Given the description of an element on the screen output the (x, y) to click on. 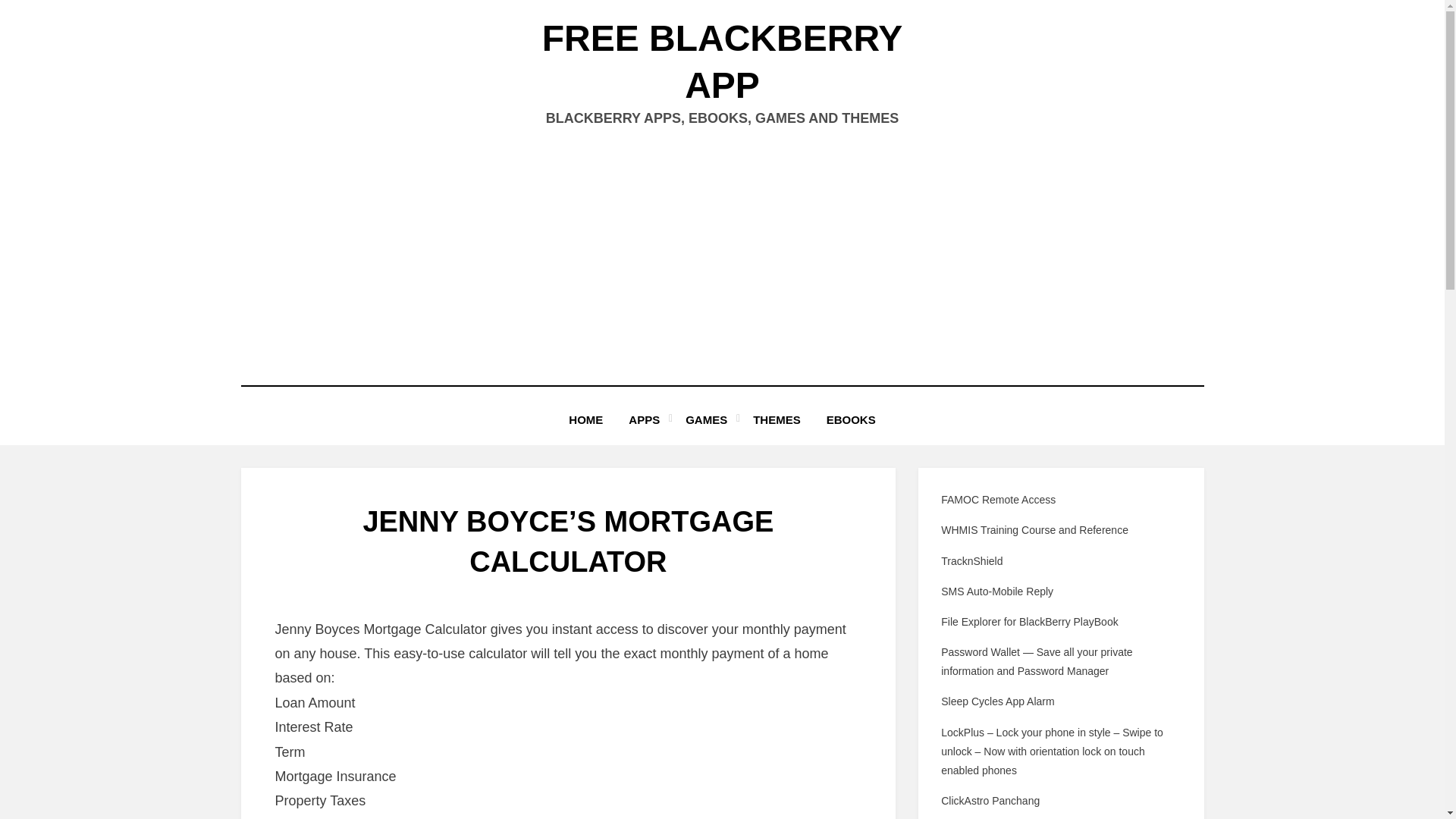
FAMOC Remote Access (997, 499)
WHMIS Training Course and Reference (1034, 530)
File Explorer for BlackBerry PlayBook (1029, 621)
Sleep Cycles App Alarm (997, 701)
GAMES (705, 419)
SMS Auto-Mobile Reply (996, 591)
THEMES (776, 419)
APPS (643, 419)
FREE BLACKBERRY APP (721, 61)
Free blackberry App (721, 61)
October 24, 2011 (613, 599)
TracknShield (971, 561)
ClickAstro Panchang (989, 800)
HOME (585, 419)
